Given the description of an element on the screen output the (x, y) to click on. 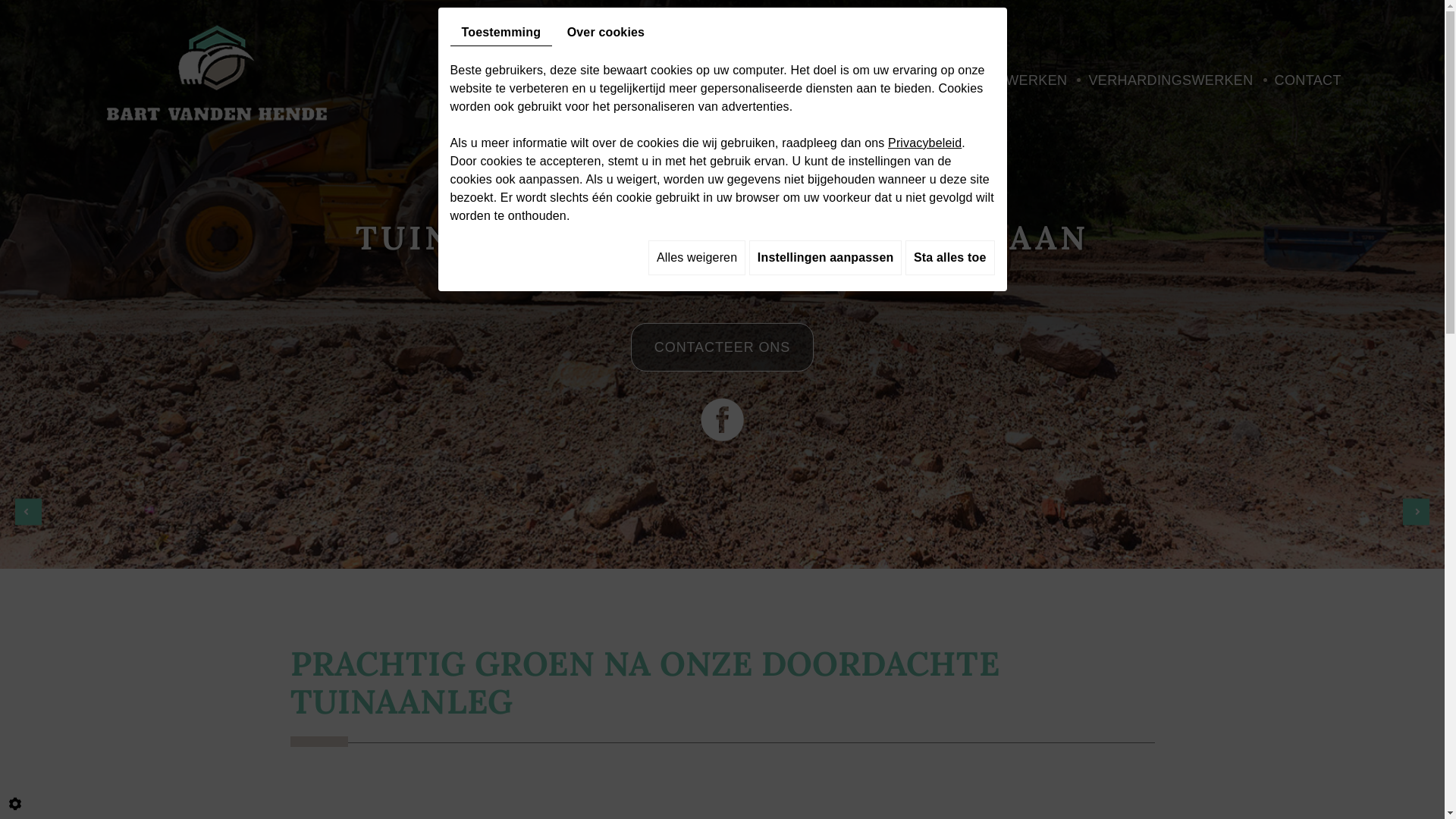
Cookie-instelling bewerken Element type: text (14, 803)
Over cookies Element type: text (605, 32)
Sta alles toe Element type: text (949, 257)
Alles weigeren Element type: text (696, 257)
TUINAANLEG Element type: text (717, 79)
CONTACTEER ONS Element type: text (721, 347)
HOME Element type: text (630, 79)
GRONDWERKEN Element type: text (840, 79)
Privacybeleid Element type: text (924, 142)
VERHARDINGSWERKEN Element type: text (1170, 79)
Instellingen aanpassen Element type: text (825, 257)
RIOLERINGSWERKEN Element type: text (993, 79)
Bart Vanden Hende  - Tuinaanleg en grondwerken Element type: hover (216, 71)
CONTACT Element type: text (1308, 79)
Toestemming Element type: text (501, 32)
